Given the description of an element on the screen output the (x, y) to click on. 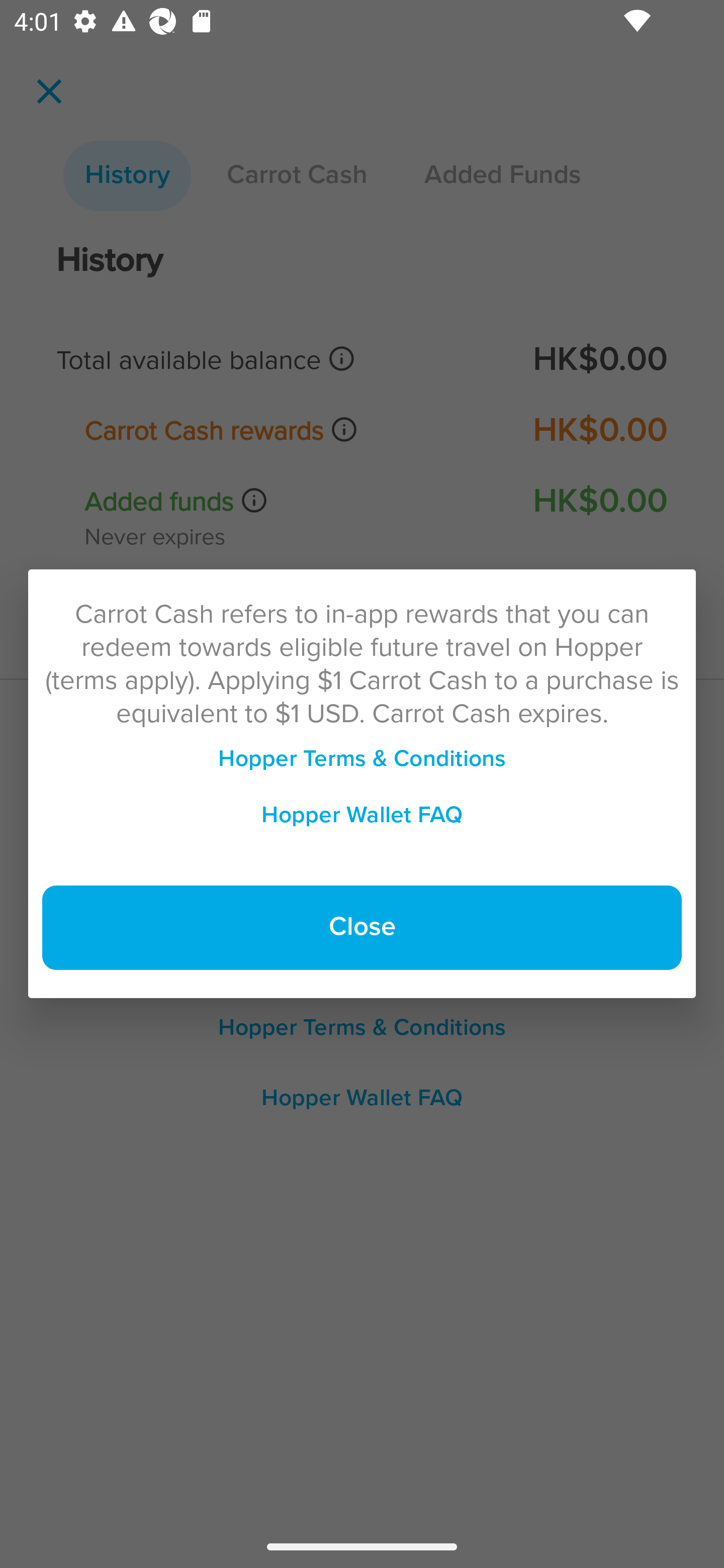
‍Hopper Terms & Conditions (361, 758)
‍Hopper Wallet FAQ (361, 815)
‍Close (361, 927)
